Given the description of an element on the screen output the (x, y) to click on. 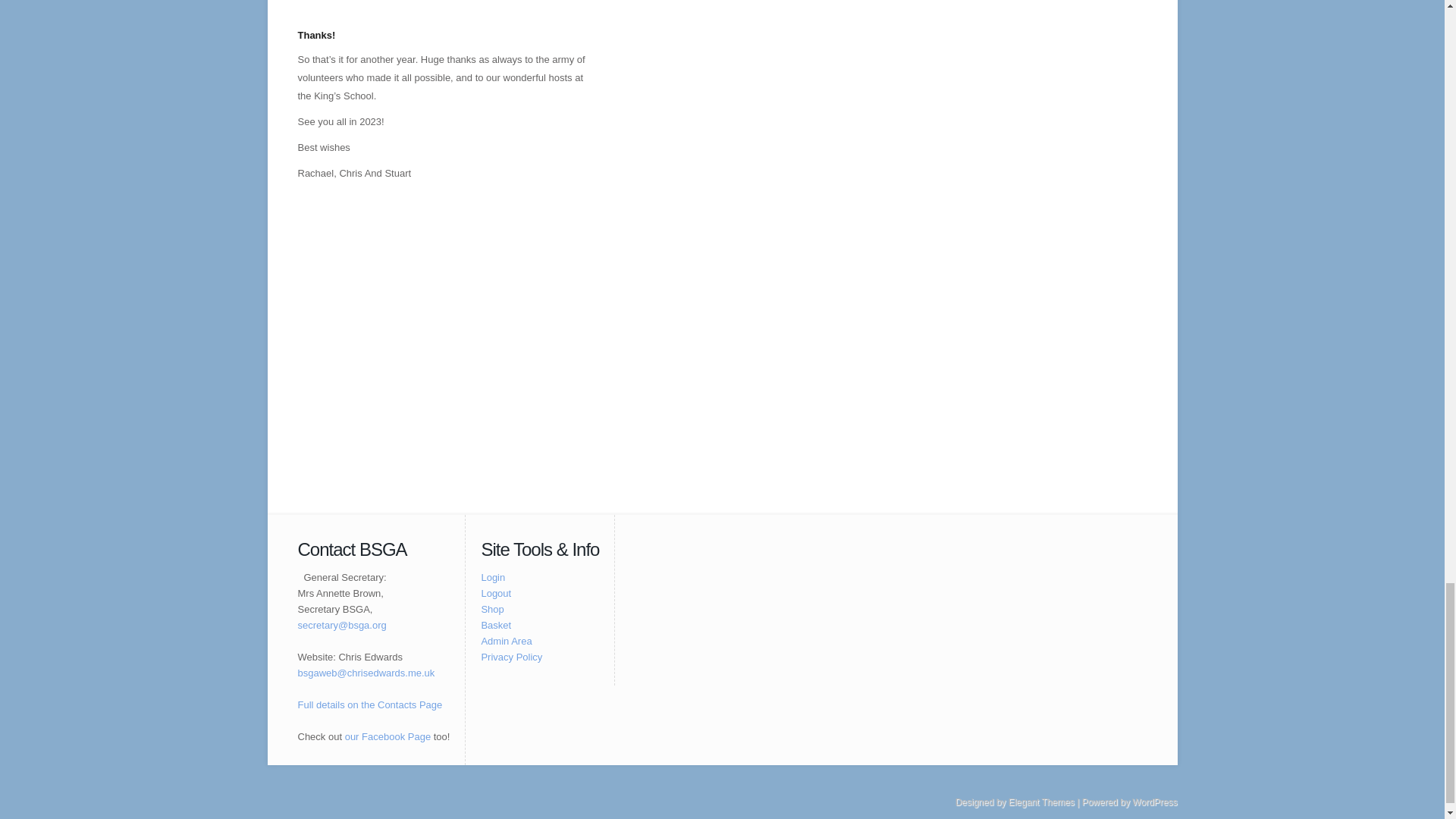
Premium WordPress Themes (1041, 801)
